Given the description of an element on the screen output the (x, y) to click on. 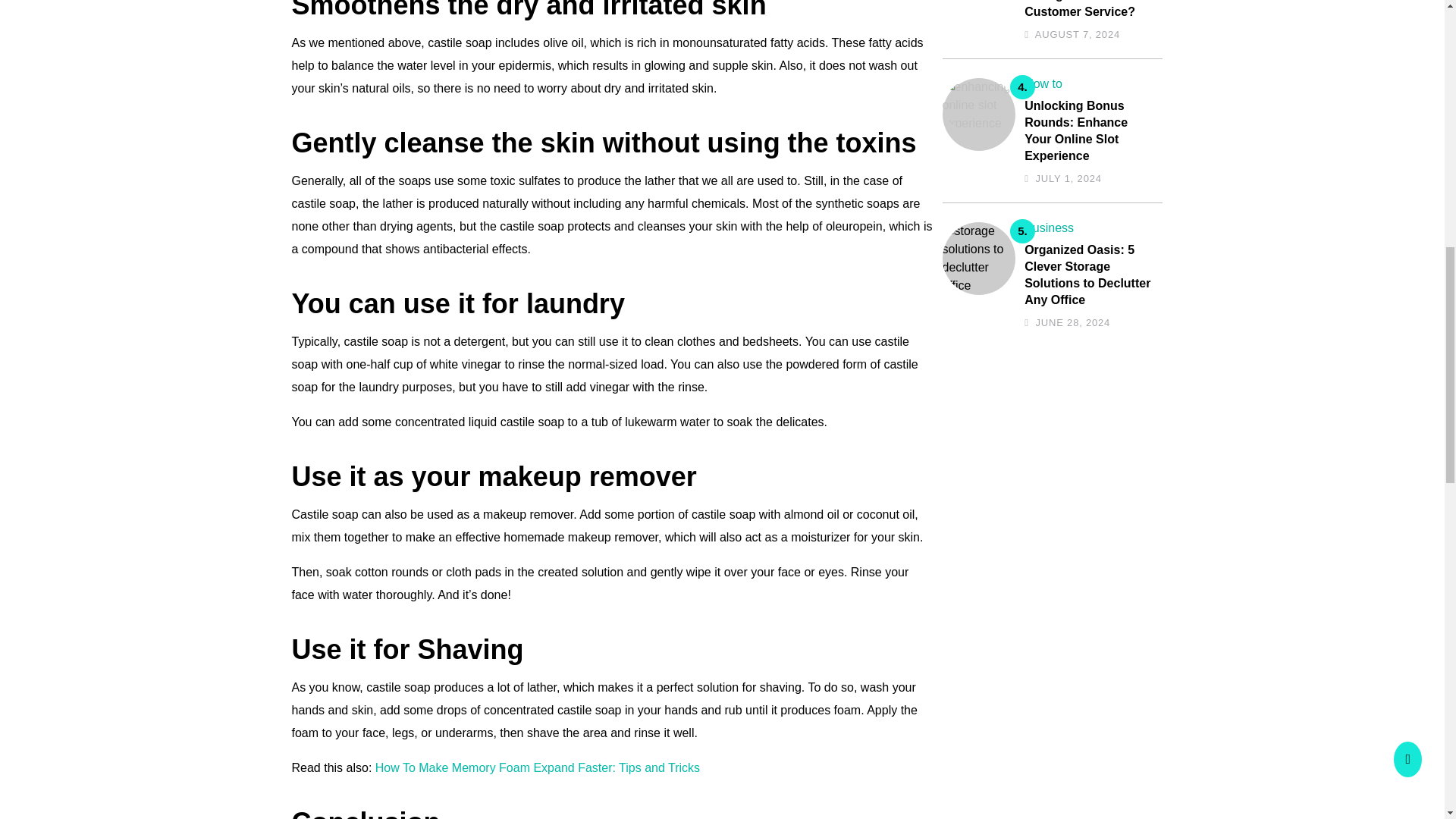
How To Make Memory Foam Expand Faster: Tips and Tricks (537, 767)
Unlocking Bonus Rounds: Enhance Your Online Slot Experience (1089, 130)
How to (1043, 83)
Business (1049, 227)
